Given the description of an element on the screen output the (x, y) to click on. 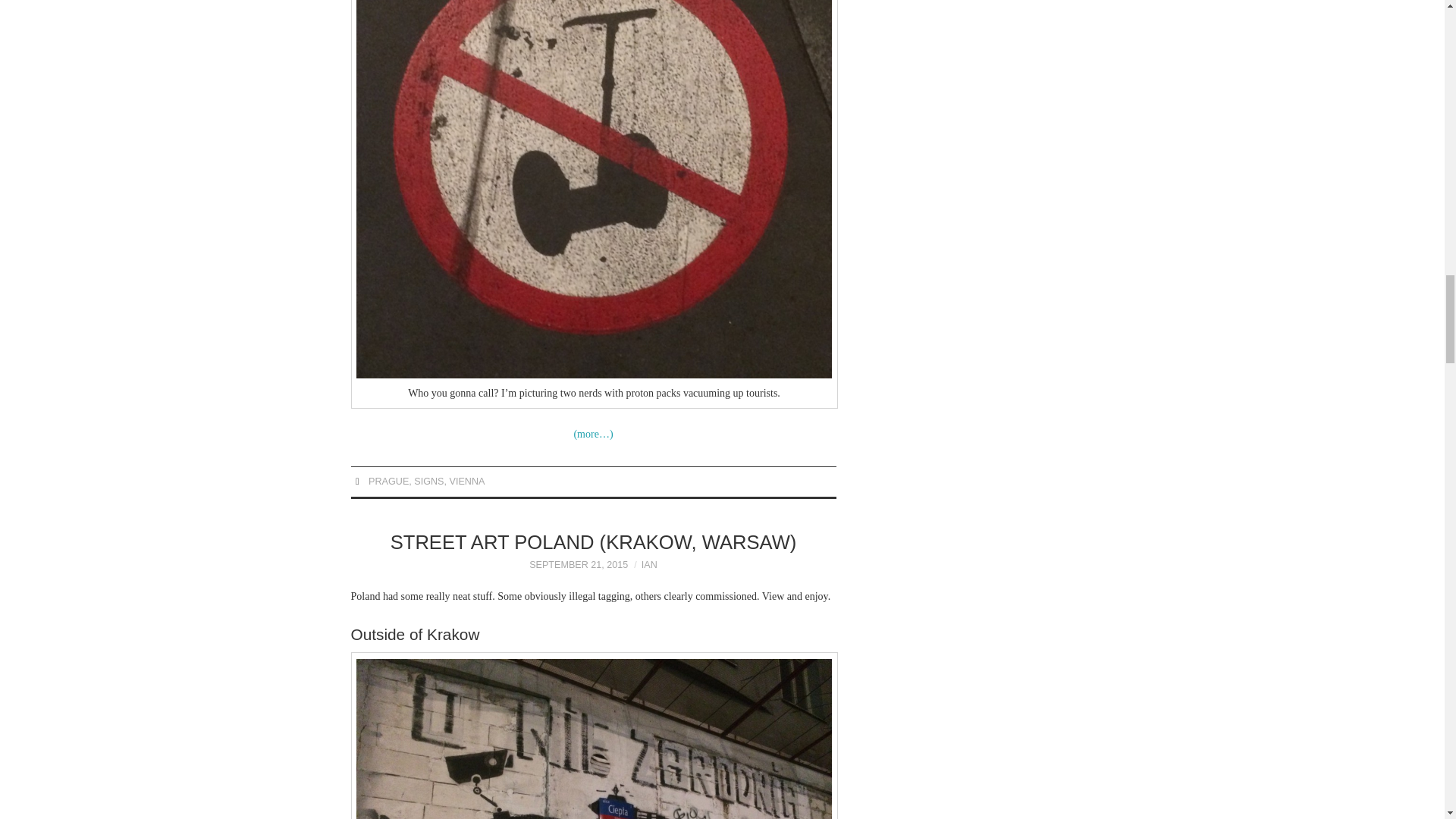
PRAGUE (388, 480)
VIENNA (466, 480)
SIGNS (428, 480)
IAN (650, 564)
SEPTEMBER 21, 2015 (578, 564)
